Given the description of an element on the screen output the (x, y) to click on. 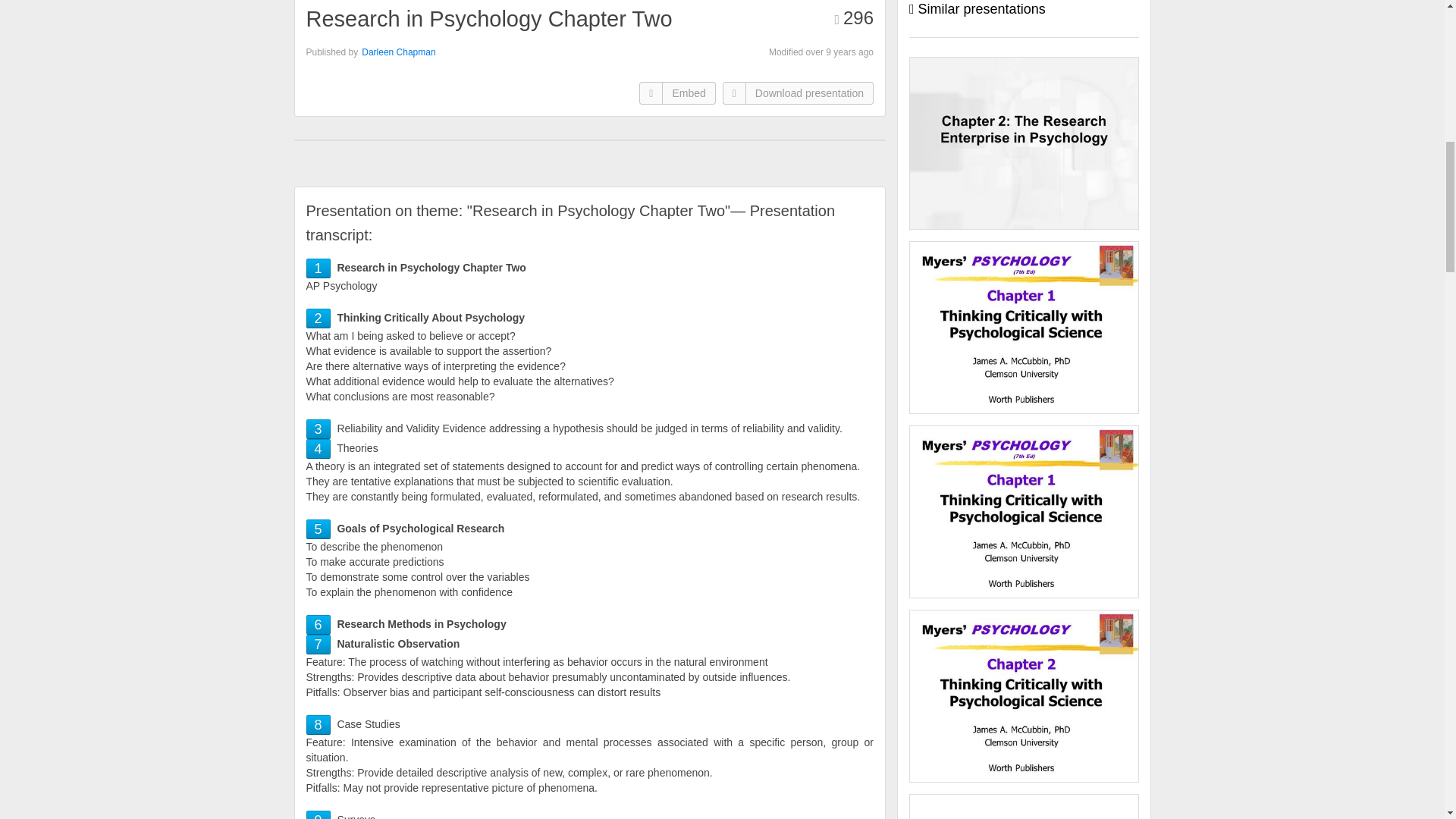
Surveys (317, 816)
Thinking Critically About Psychology (317, 318)
Darleen Chapman (398, 51)
Research Methods in Psychology (317, 624)
Research in Psychology Chapter Two (317, 268)
Goals of Psychological Research (317, 529)
Naturalistic Observation (317, 644)
